Given the description of an element on the screen output the (x, y) to click on. 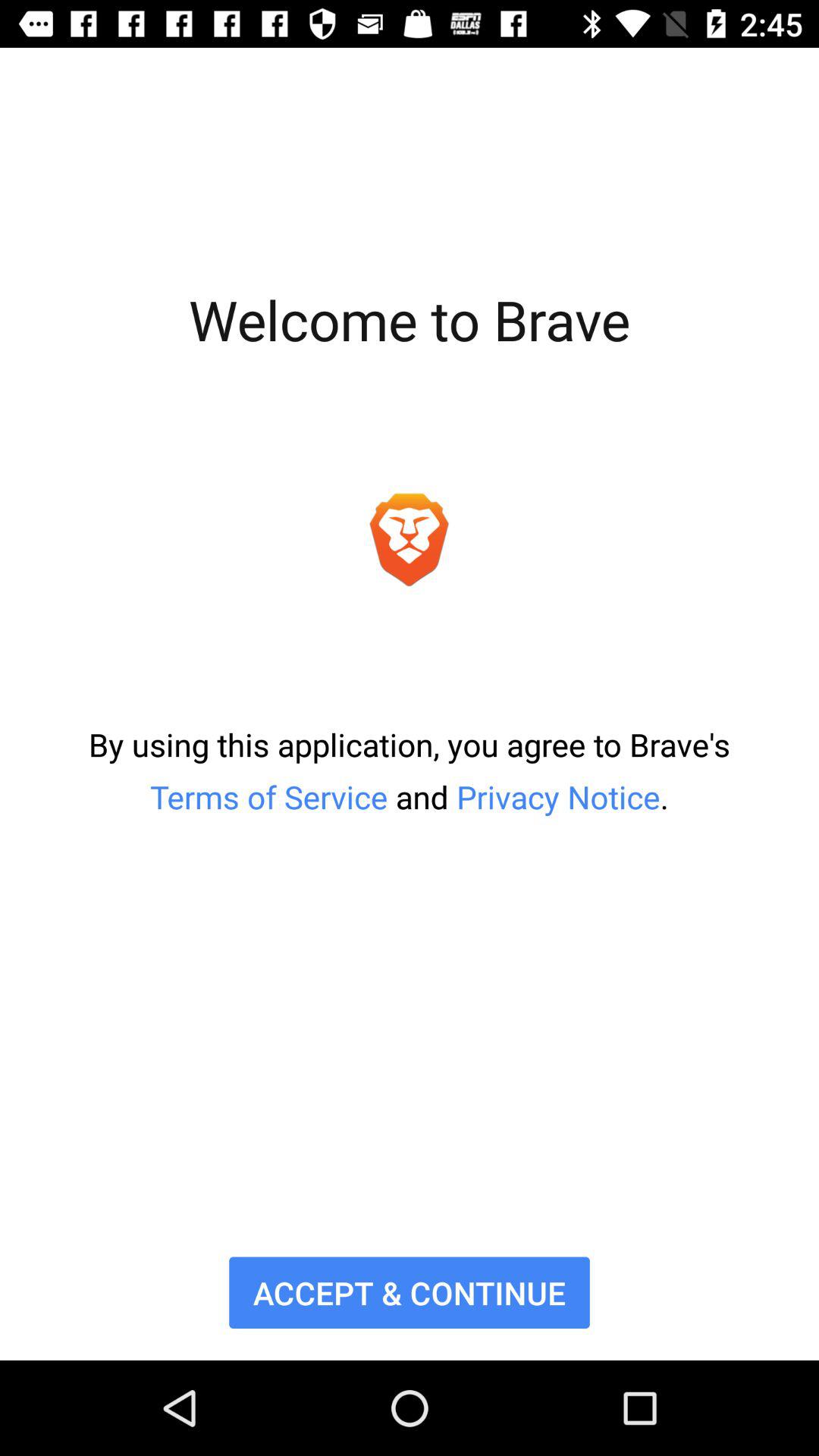
choose by using this item (409, 770)
